Given the description of an element on the screen output the (x, y) to click on. 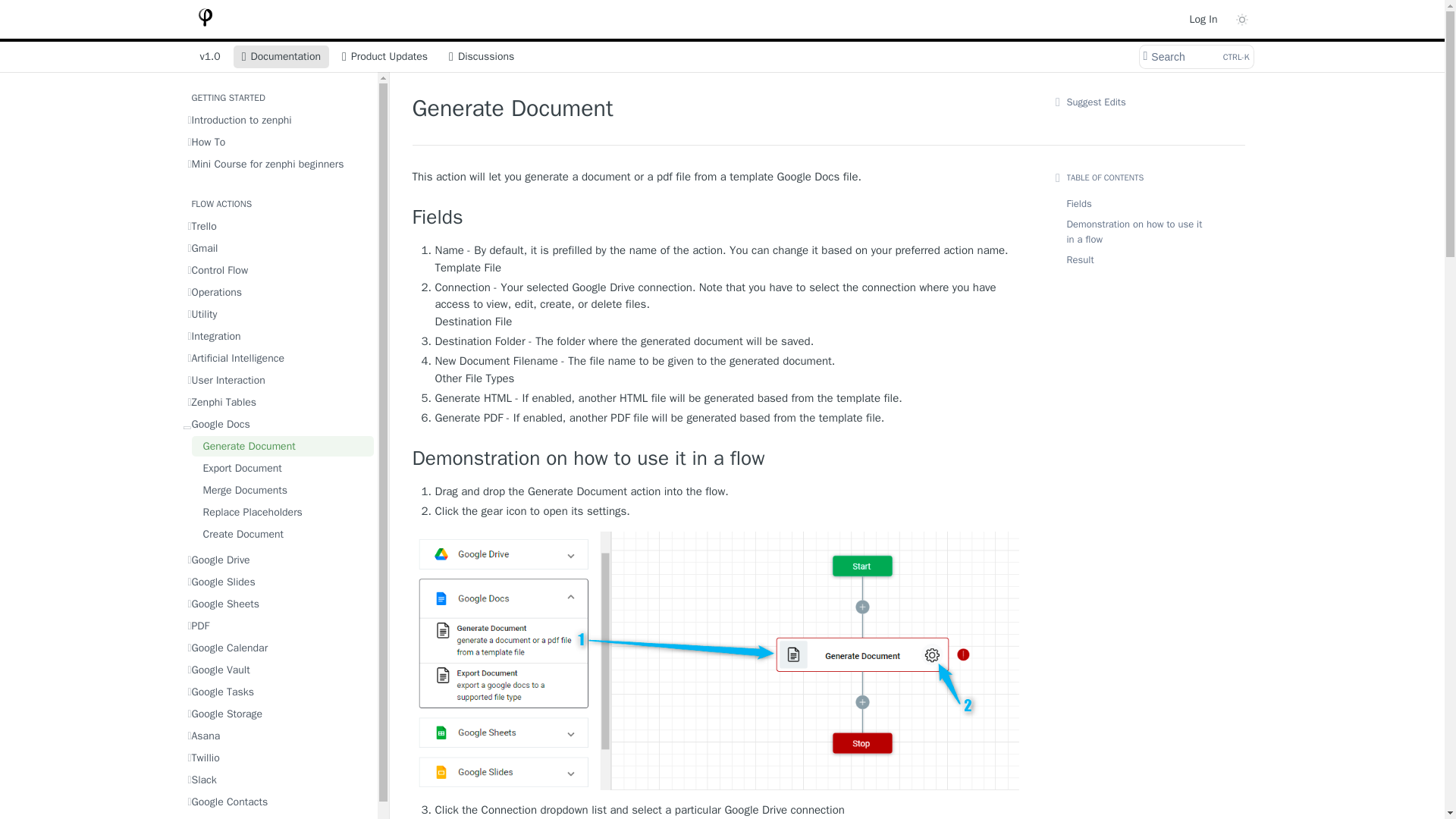
Documentation (280, 56)
Log In (1202, 18)
Product Updates (384, 56)
Fields (715, 217)
Introduction to zenphi (1195, 56)
Discussions (277, 119)
How To (481, 56)
Demonstration on how to use it in a flow (277, 141)
